Given the description of an element on the screen output the (x, y) to click on. 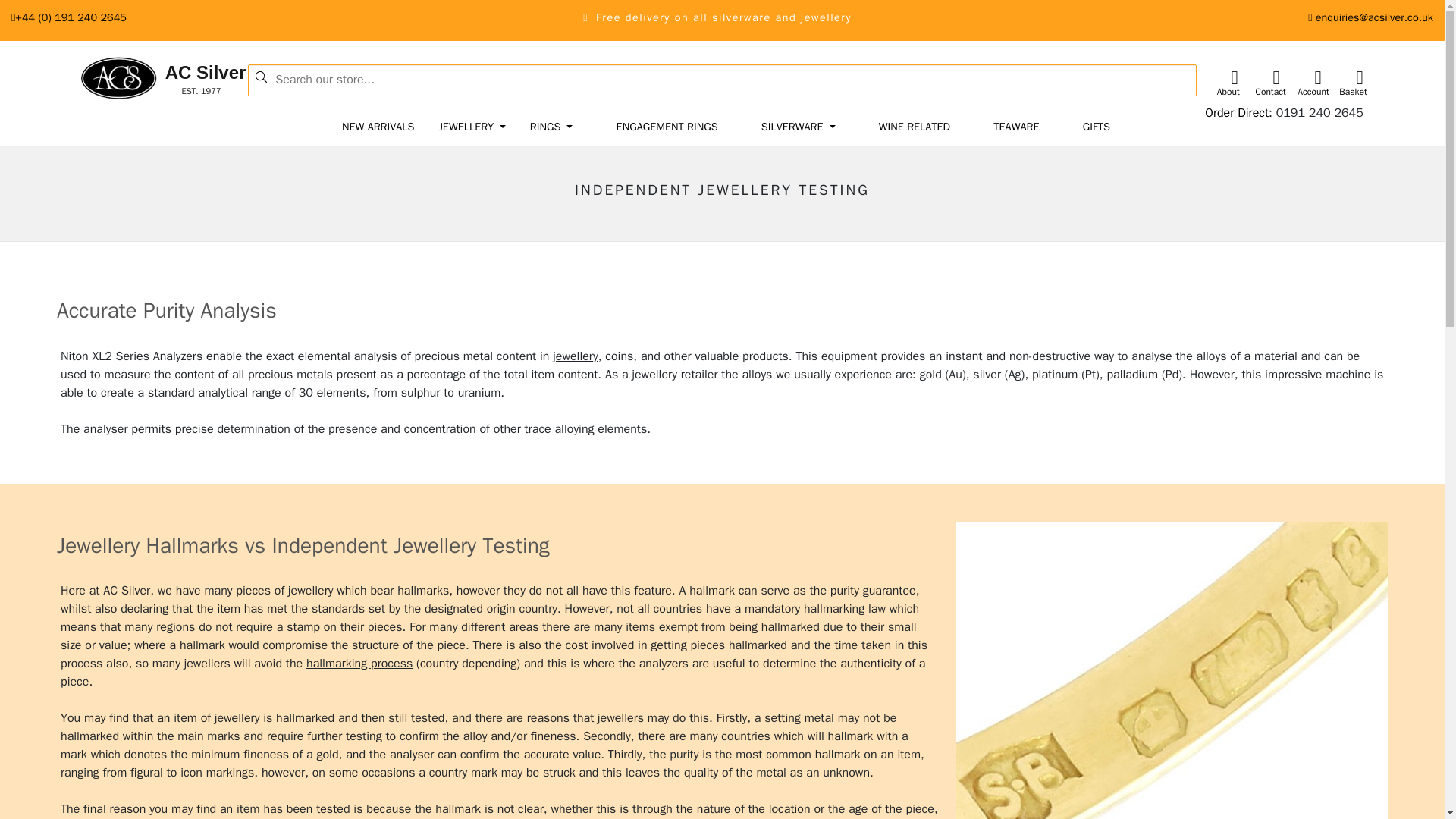
NEW ARRIVALS (378, 126)
0191 240 2645 (1319, 112)
RINGS (551, 126)
JEWELLERY (135, 78)
